Given the description of an element on the screen output the (x, y) to click on. 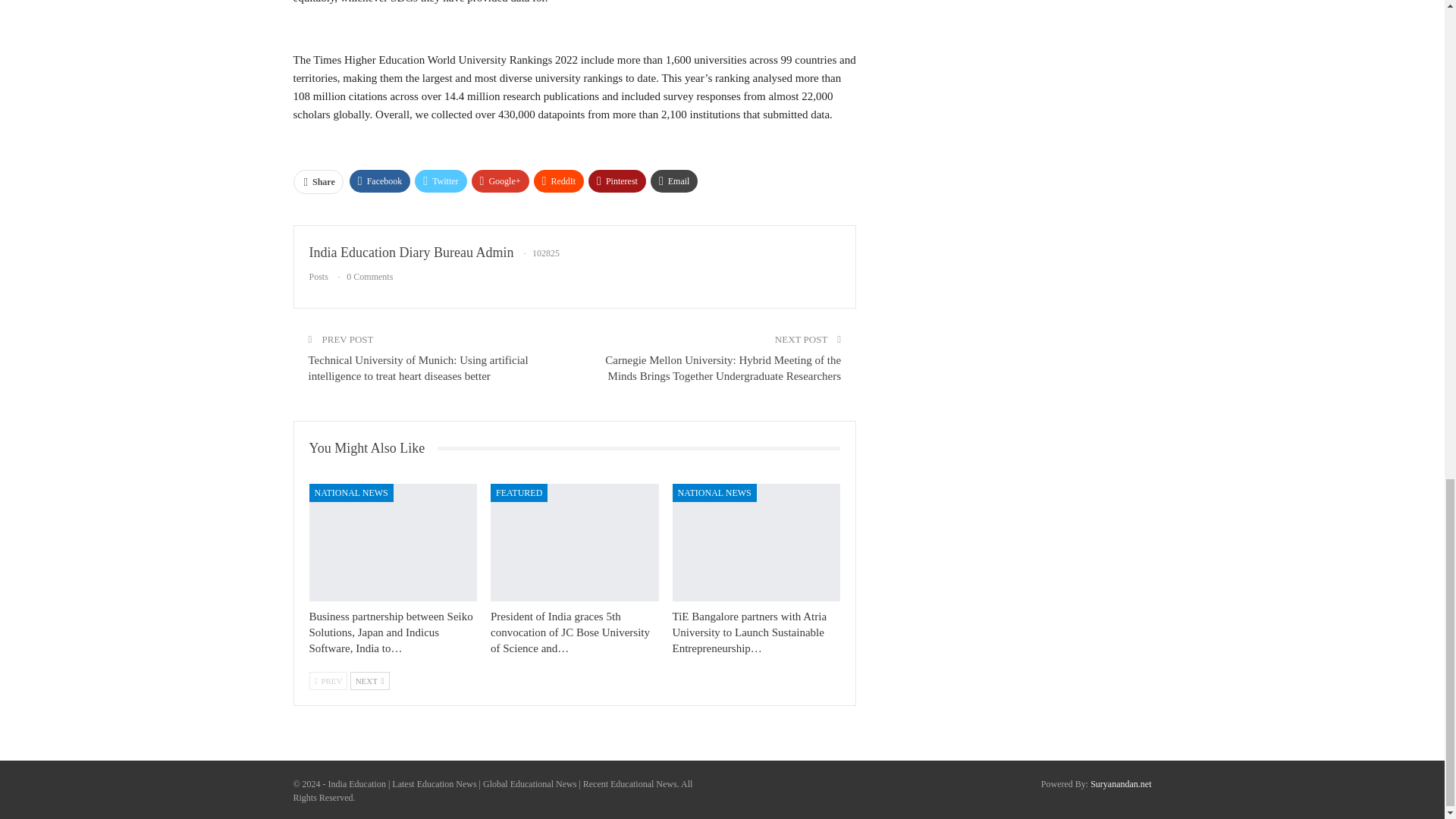
Previous (327, 680)
Next (370, 680)
